Given the description of an element on the screen output the (x, y) to click on. 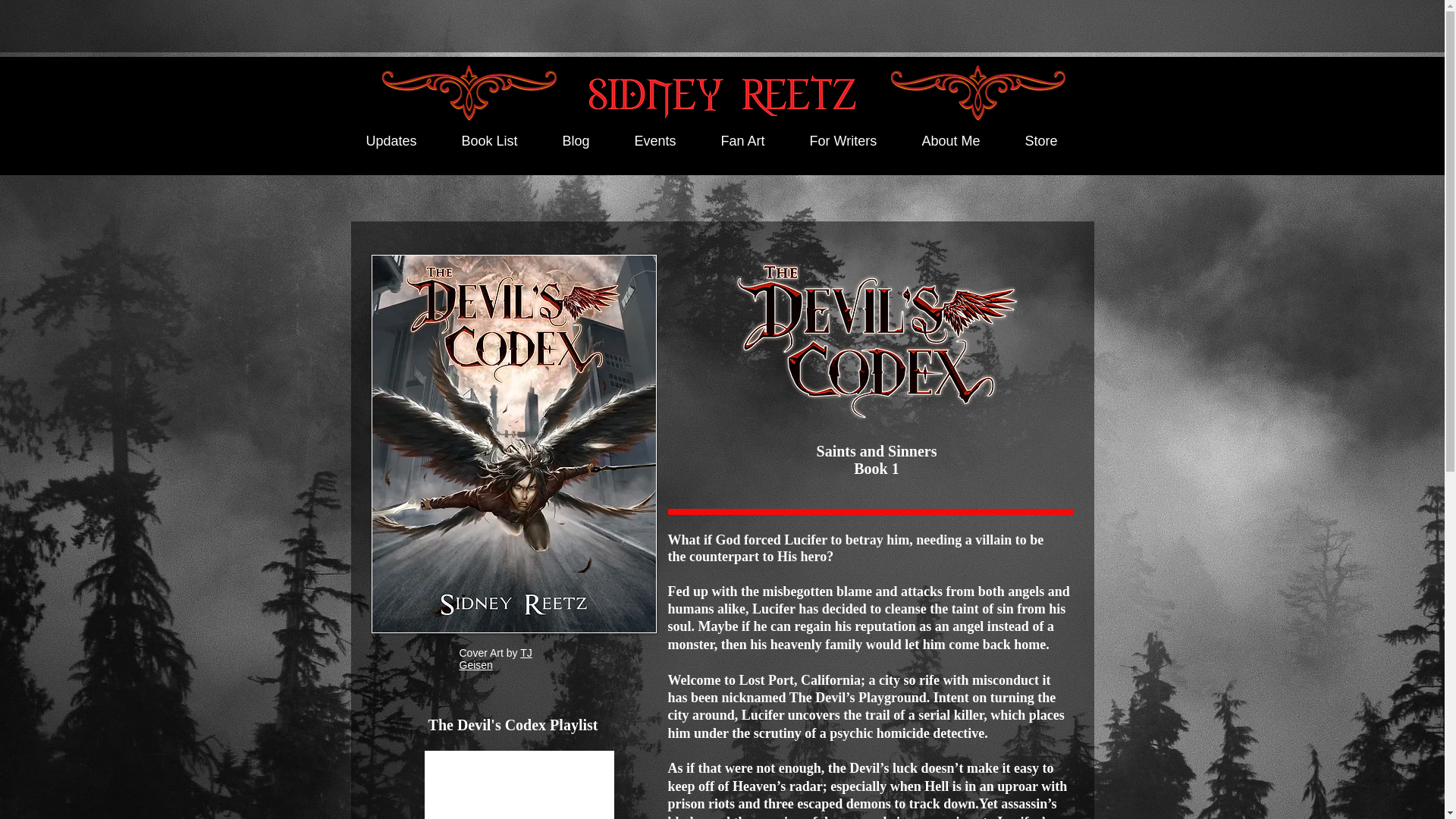
Updates (405, 141)
For Writers (856, 141)
About Me (964, 141)
Book List (503, 141)
TJ Geisen (496, 658)
Spotify Player (519, 785)
Blog (589, 141)
Fan Art (757, 141)
Store (1054, 141)
Spotify Player (519, 785)
Events (669, 141)
